Given the description of an element on the screen output the (x, y) to click on. 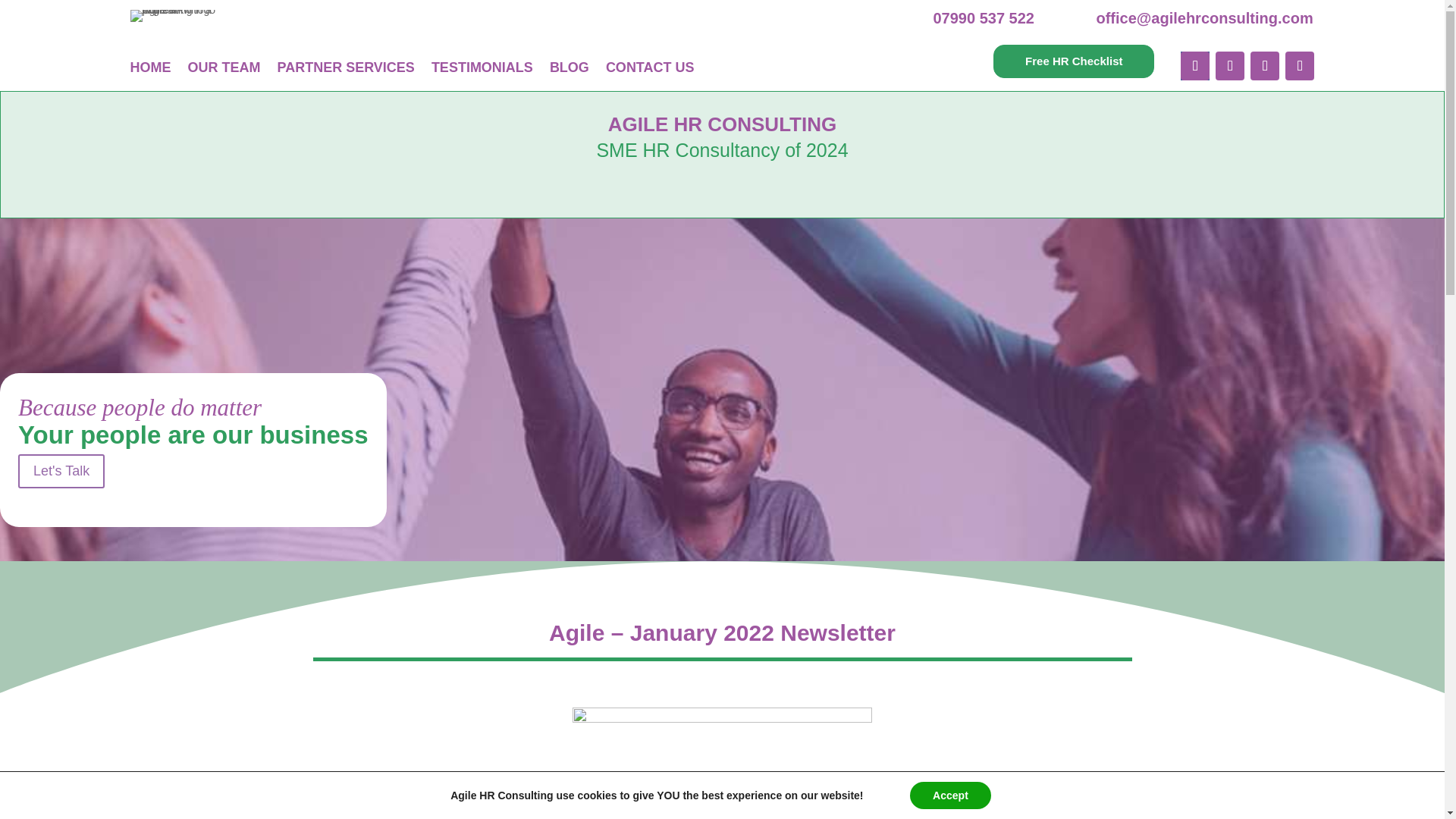
PARTNER SERVICES (346, 66)
Dark side (722, 755)
Follow on Facebook (1194, 65)
Let's Talk (60, 471)
CONTACT US (649, 66)
Follow on Instagram (1299, 65)
HOME (151, 66)
OUR TEAM (223, 66)
TESTIMONIALS (481, 66)
BLOG (569, 66)
Follow on X (1229, 65)
Follow on LinkedIn (1264, 65)
Free HR Checklist (1073, 61)
07990 537 522 (983, 17)
Accept (950, 795)
